Given the description of an element on the screen output the (x, y) to click on. 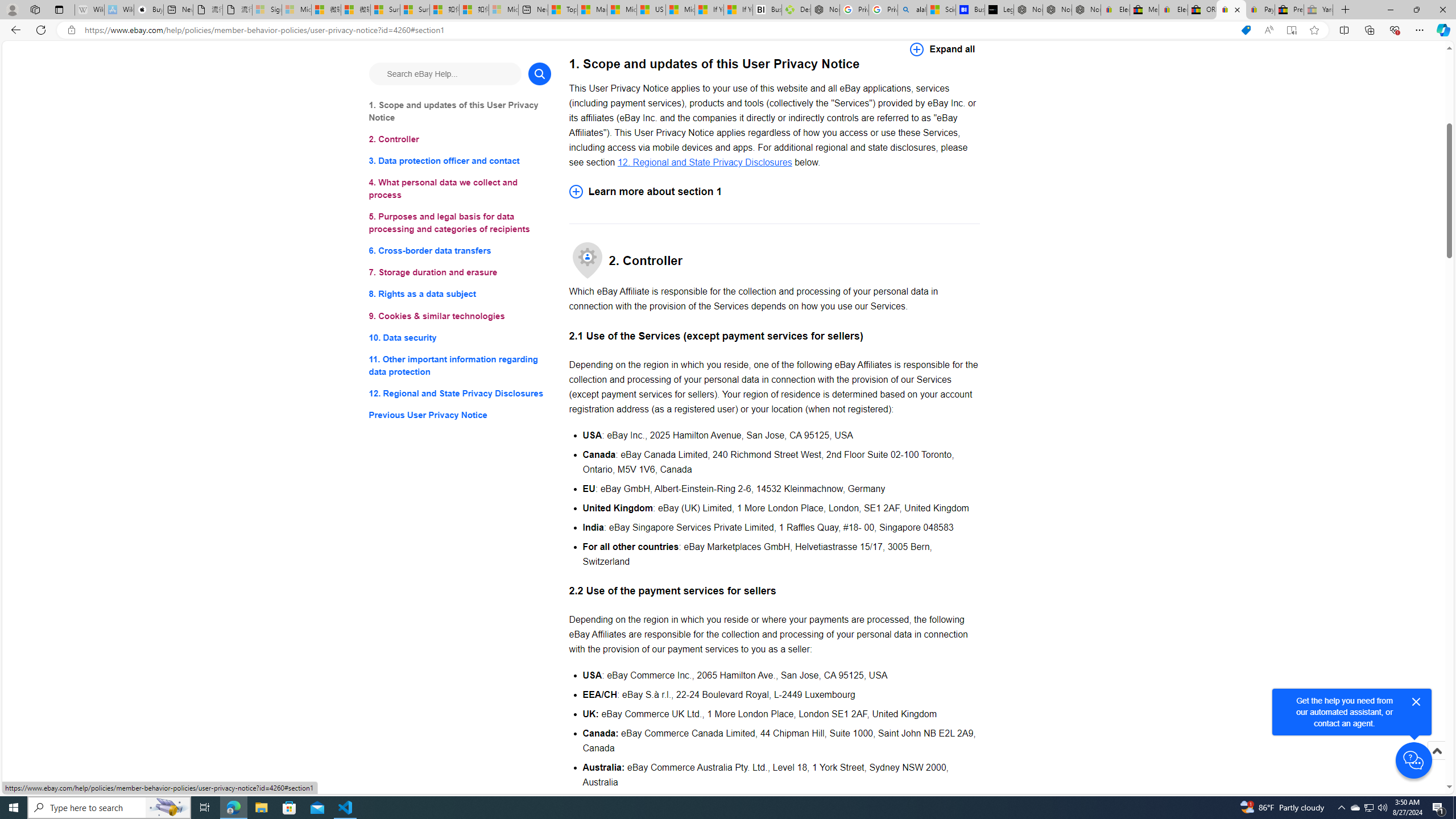
12. Regional and State Privacy Disclosures (459, 392)
Search eBay Help... (444, 73)
US Heat Deaths Soared To Record High Last Year (651, 9)
Electronics, Cars, Fashion, Collectibles & More | eBay (1173, 9)
Sign in to your Microsoft account - Sleeping (266, 9)
Payments Terms of Use | eBay.com (1259, 9)
6. Cross-border data transfers (459, 250)
11. Other important information regarding data protection (459, 365)
12. Regional and State Privacy Disclosures (704, 162)
